Given the description of an element on the screen output the (x, y) to click on. 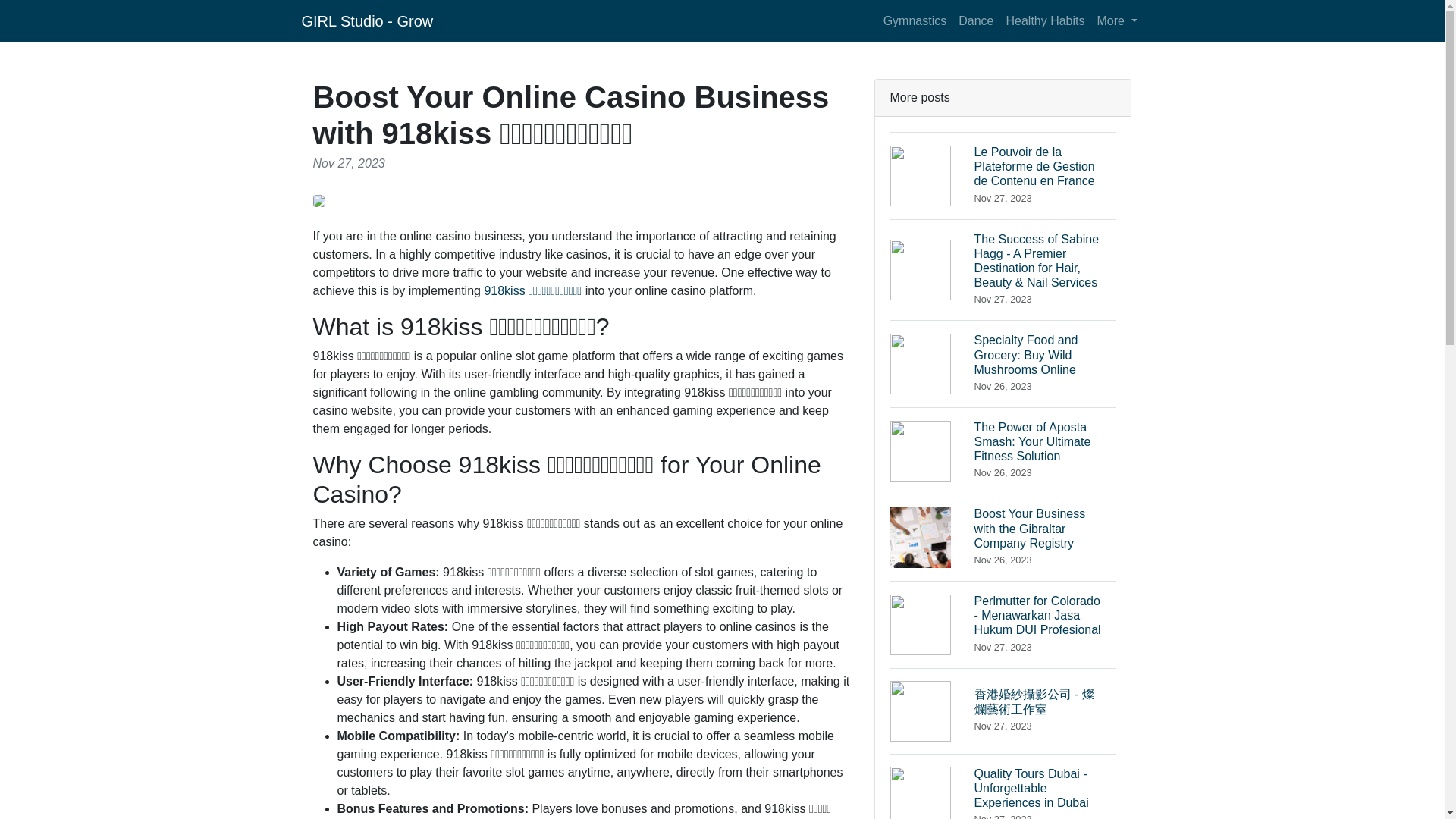
GIRL Studio - Grow (367, 20)
More (1116, 20)
Healthy Habits (1044, 20)
Dance (975, 20)
